Given the description of an element on the screen output the (x, y) to click on. 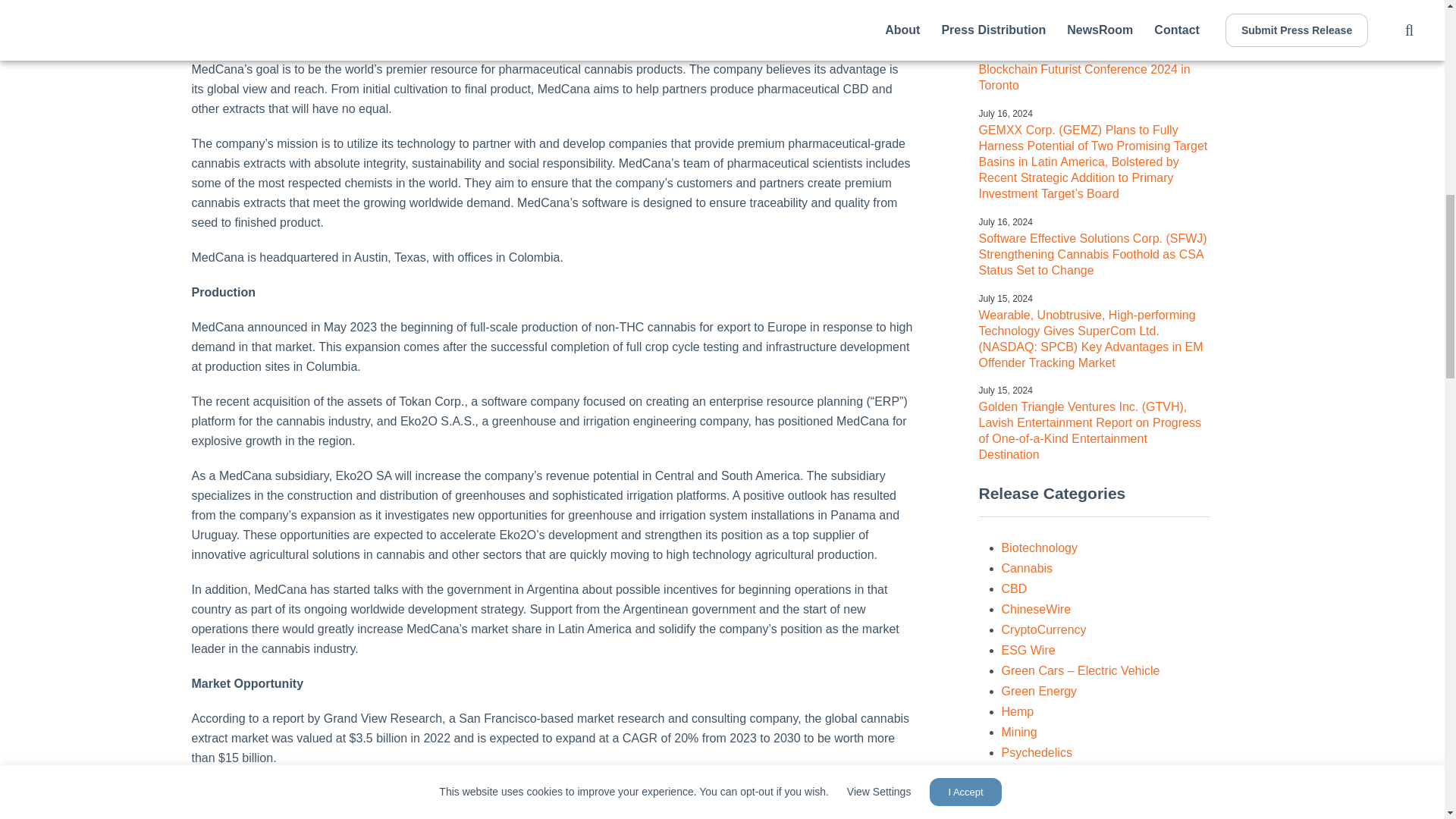
View all posts in Biotechnology (1039, 547)
View all posts in CBD (1013, 588)
View all posts in Mining (1018, 731)
View all posts in Hemp (1017, 711)
View all posts in TechMediaWire (1042, 772)
View all posts in Green Energy (1039, 690)
View all posts in TinyGems (1028, 793)
View all posts in Cannabis (1026, 567)
View all posts in ChineseWire (1035, 608)
View all posts in CryptoCurrency (1043, 629)
View all posts in ESG Wire (1027, 649)
View all posts in Psychedelics (1036, 752)
